Given the description of an element on the screen output the (x, y) to click on. 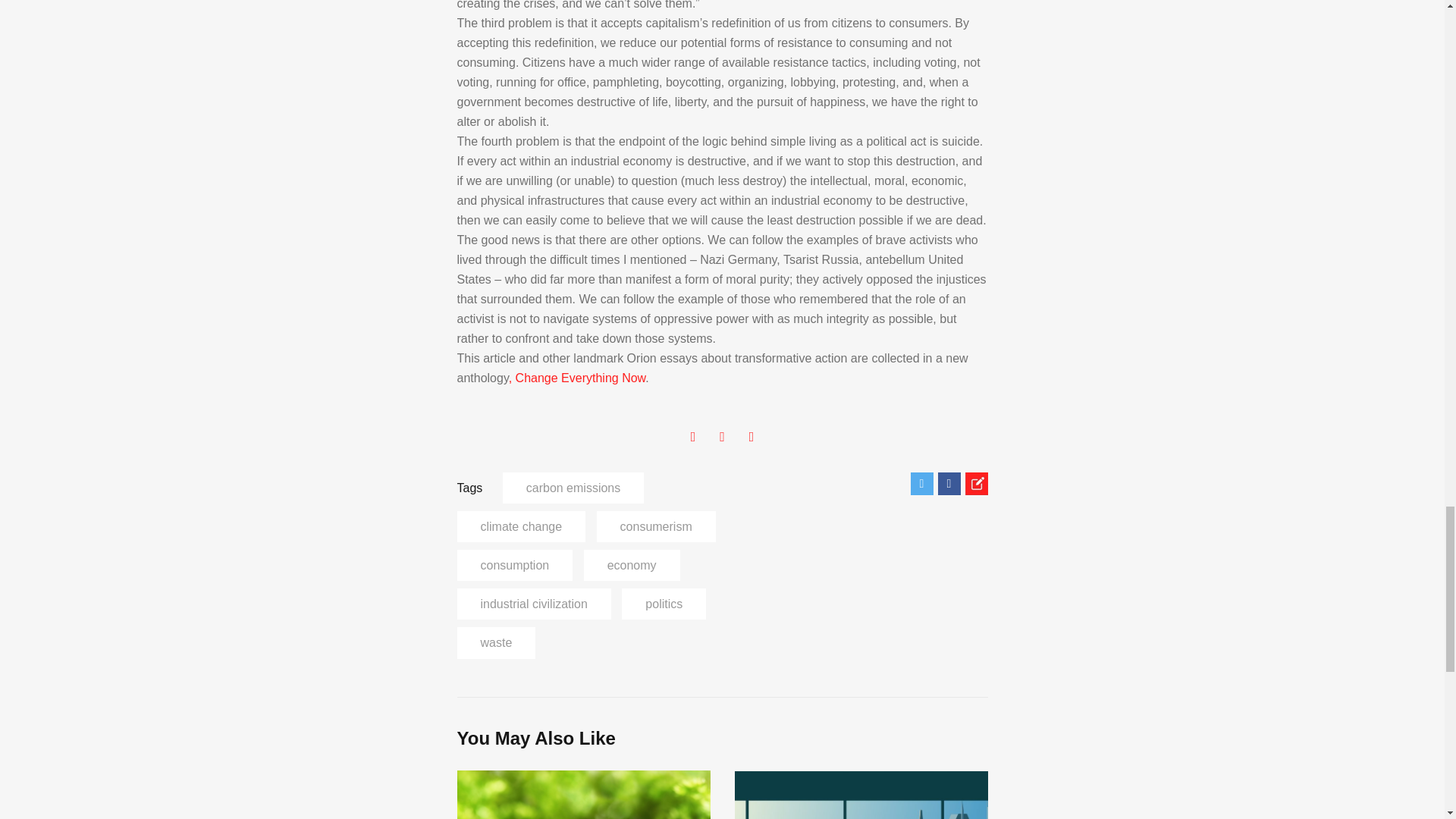
Share on Twitter (921, 483)
Share on Facebook (948, 483)
Share on Reddit (975, 483)
